Given the description of an element on the screen output the (x, y) to click on. 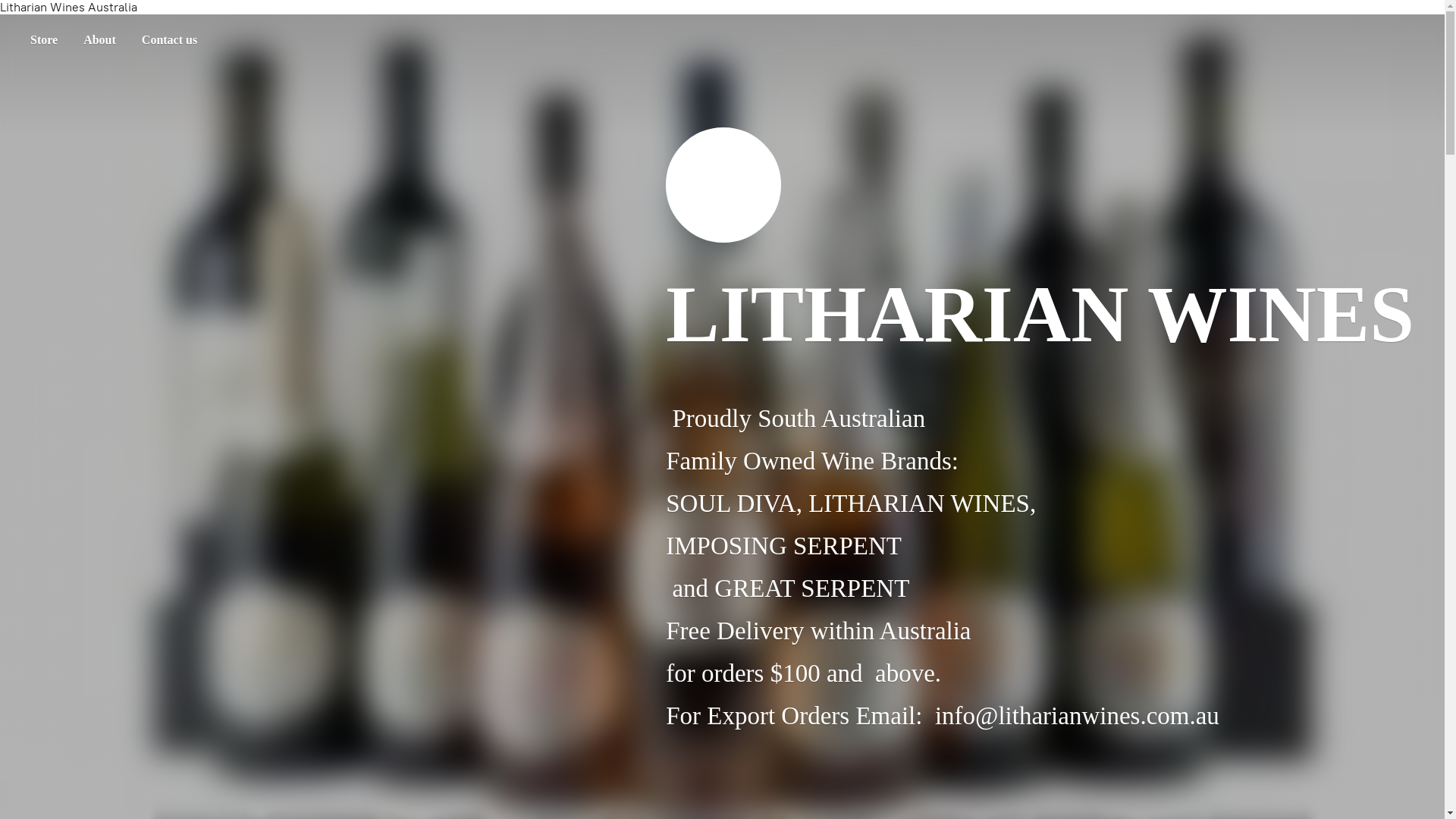
Store Element type: text (43, 40)
Contact us Element type: text (169, 40)
About Element type: text (99, 40)
